Given the description of an element on the screen output the (x, y) to click on. 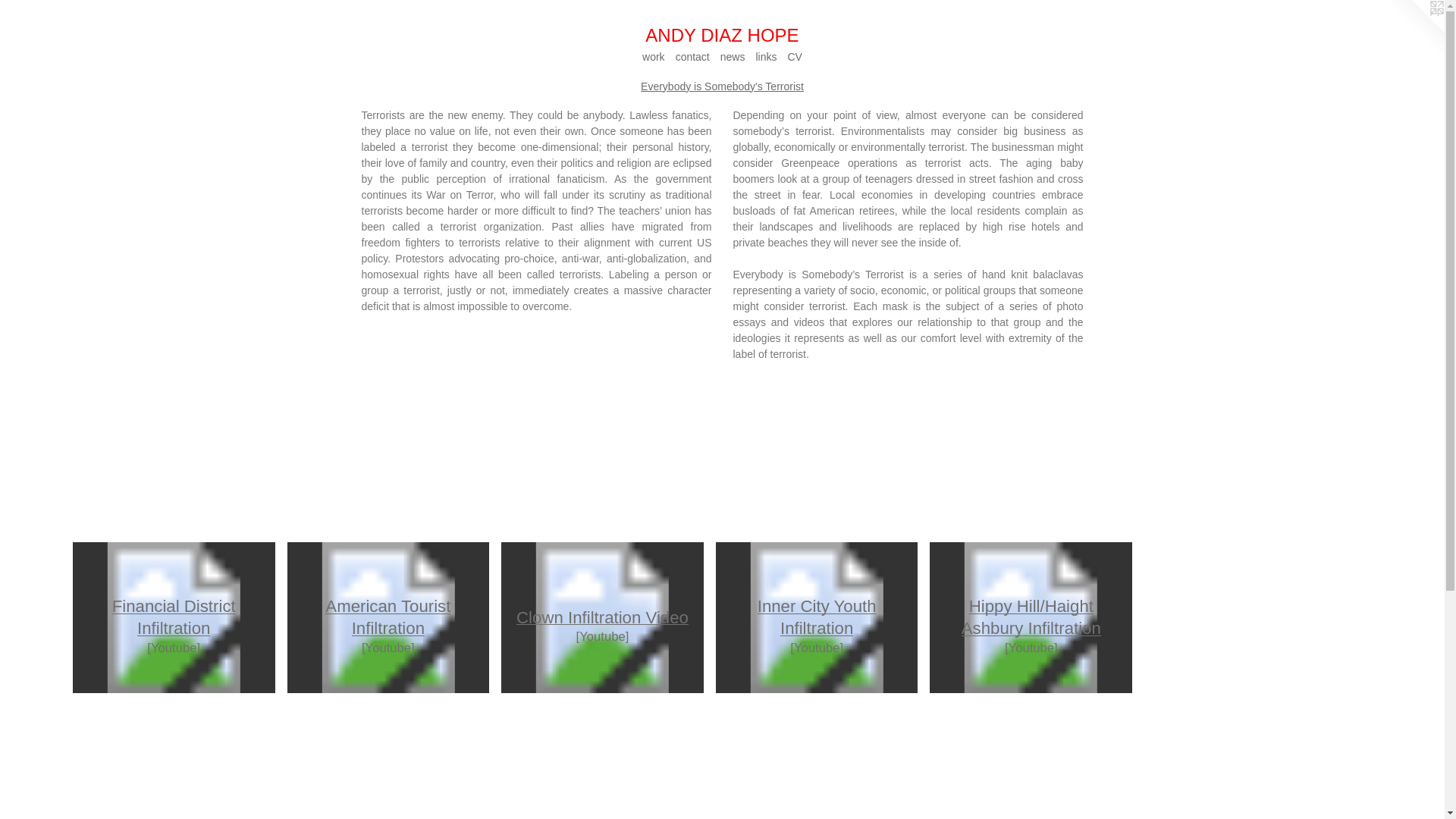
hipPY (807, 762)
Tiger Safari (1257, 616)
Carneval Clown (400, 762)
Financial District Infiltration (173, 616)
Fatehpuhr Tourist (662, 762)
work (653, 56)
Clown Infiltration Video (601, 616)
L.A. tourist (537, 762)
Unlicensed Clown (209, 762)
ANDY DIAZ HOPE (721, 36)
American Tourist Infiltration (817, 616)
